Given the description of an element on the screen output the (x, y) to click on. 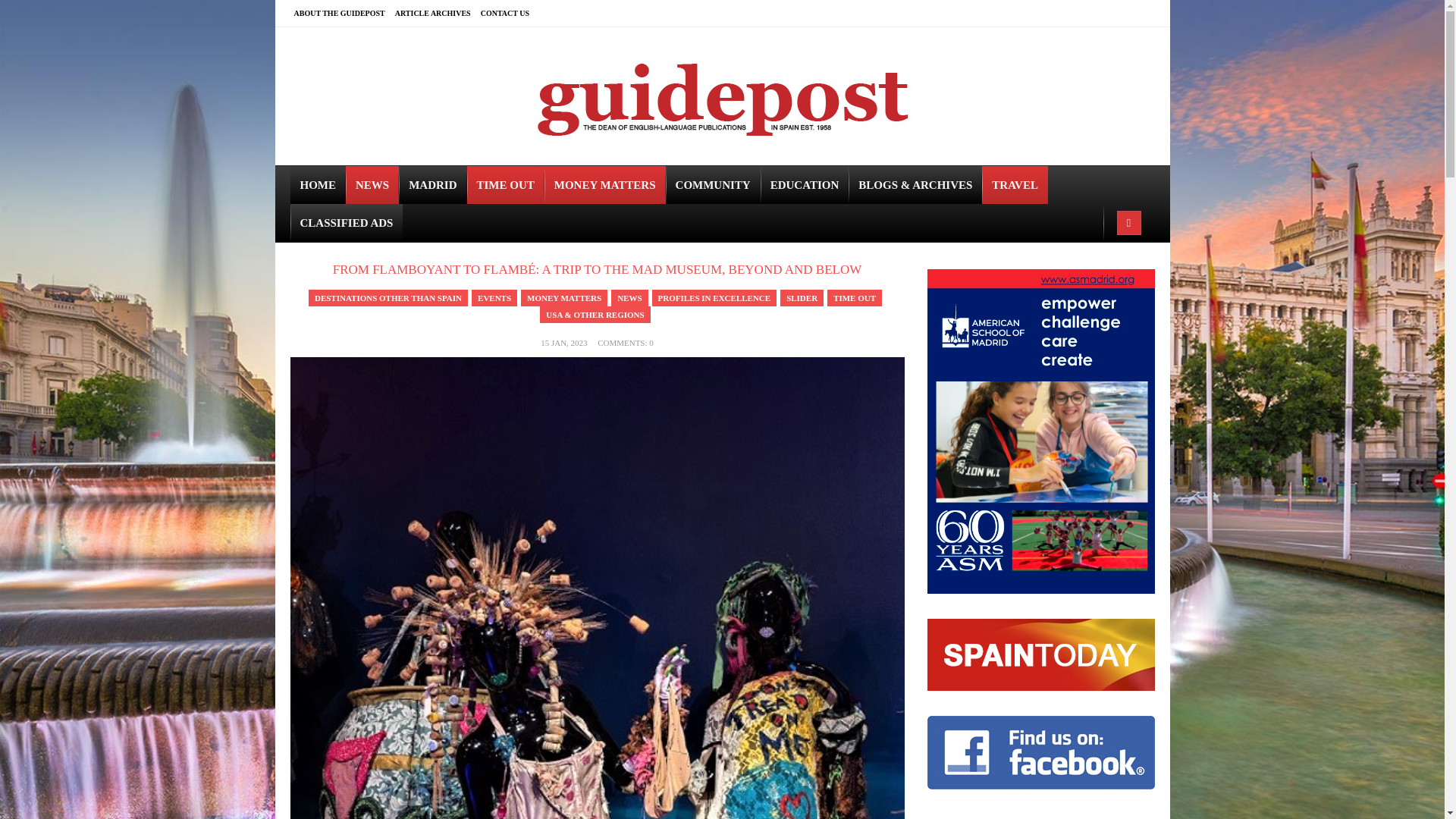
ARTICLE ARCHIVES (437, 13)
Search (11, 9)
NEWS (629, 297)
TRAVEL (1014, 184)
slider, 'my-text-domain' (802, 297)
HOME (317, 184)
Time Out, 'my-text-domain' (854, 297)
Destinations Other Than Spain, 'my-text-domain' (387, 297)
NEWS (372, 184)
MONEY MATTERS (604, 184)
